Given the description of an element on the screen output the (x, y) to click on. 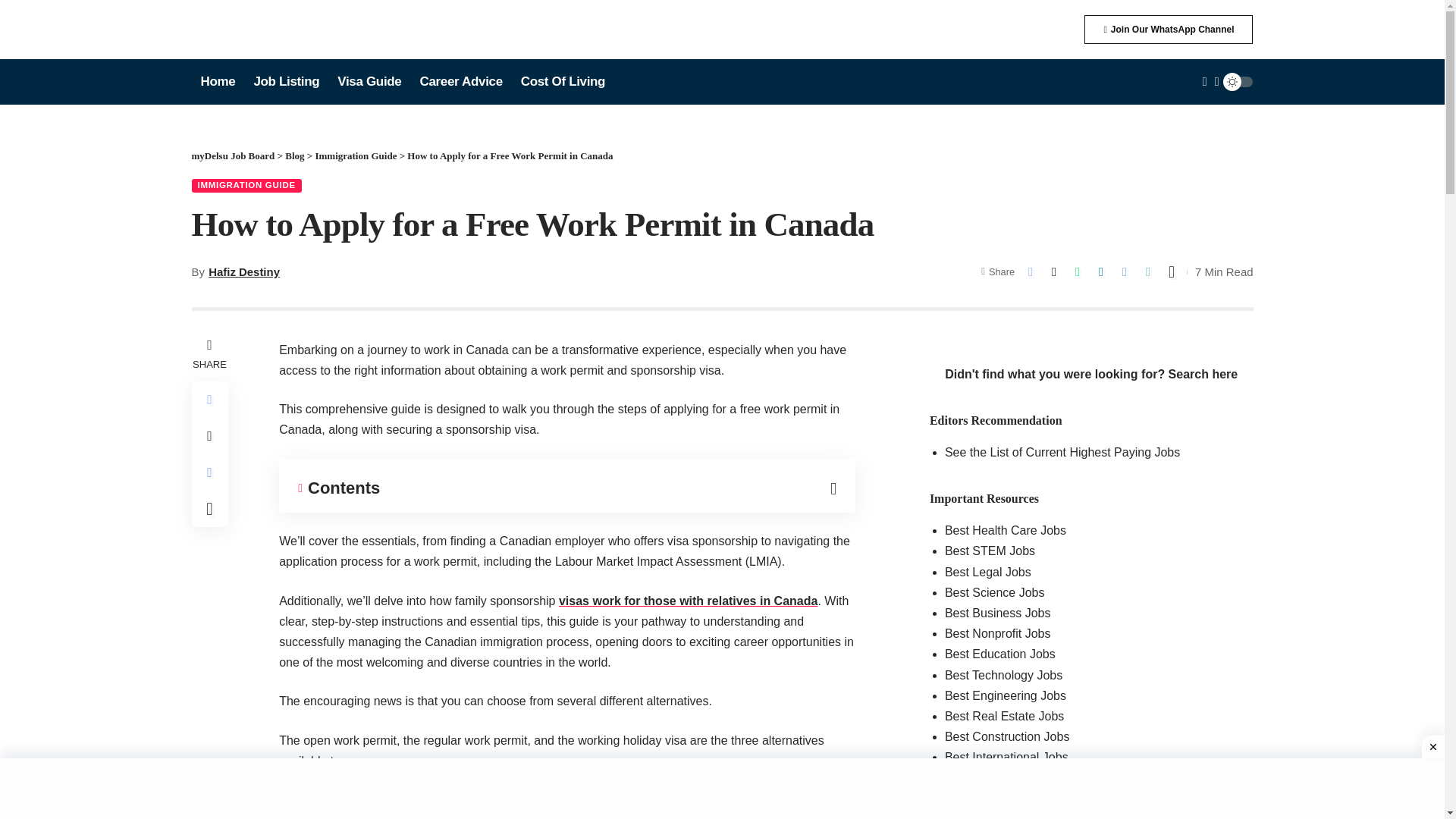
Hafiz Destiny (243, 271)
Go to myDelsu Job Board. (232, 155)
Career Advice (460, 81)
Go to Blog. (294, 155)
IMMIGRATION GUIDE (245, 185)
Job Listing (286, 81)
Immigration Guide (355, 155)
Join Our WhatsApp Channel (1168, 29)
myDelsu Job Board (232, 155)
Cost Of Living (563, 81)
